Given the description of an element on the screen output the (x, y) to click on. 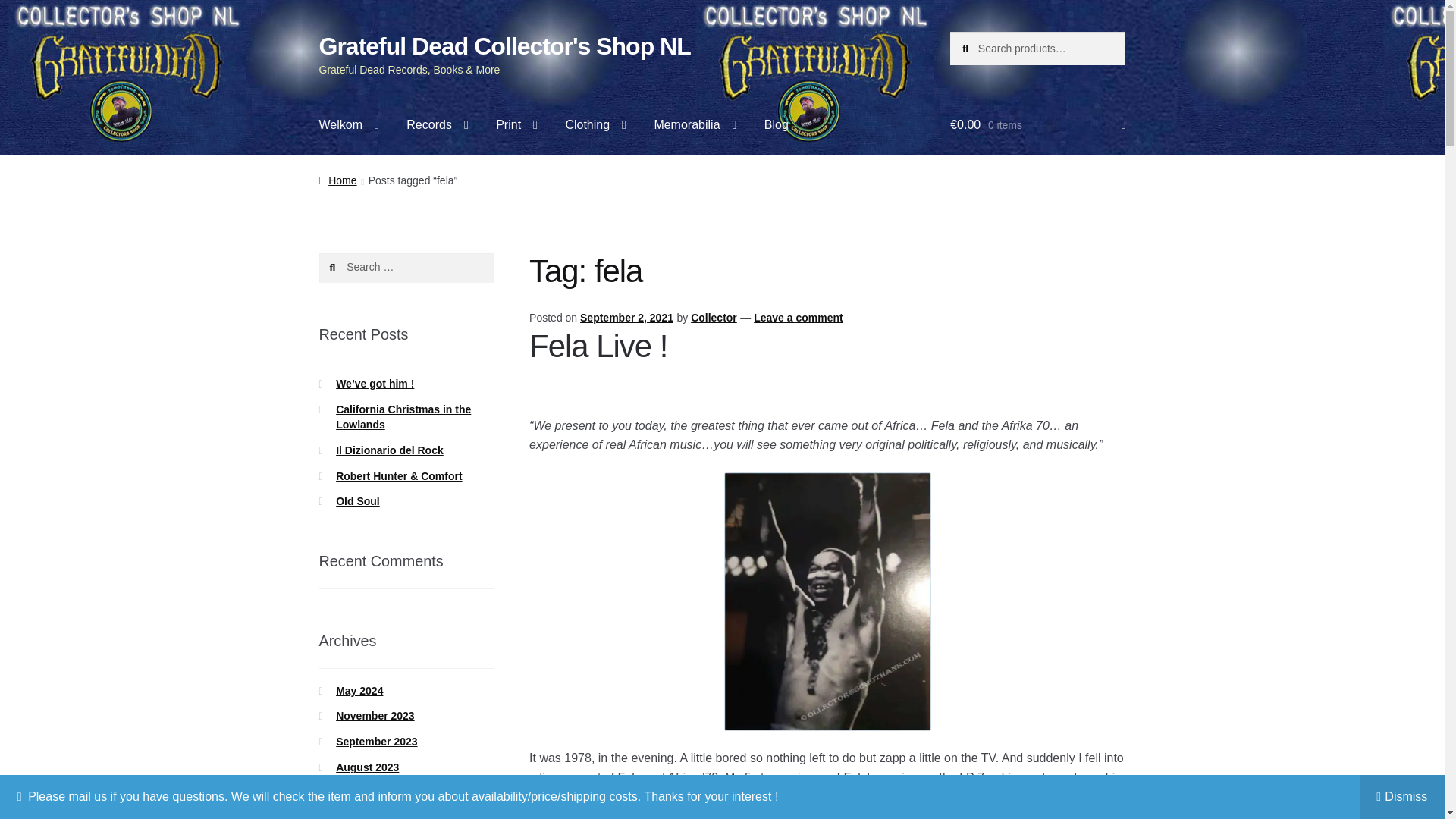
Welkom (349, 124)
View your shopping cart (1037, 124)
Records (437, 124)
Grateful Dead Collector's Shop NL (504, 45)
Print (516, 124)
